Given the description of an element on the screen output the (x, y) to click on. 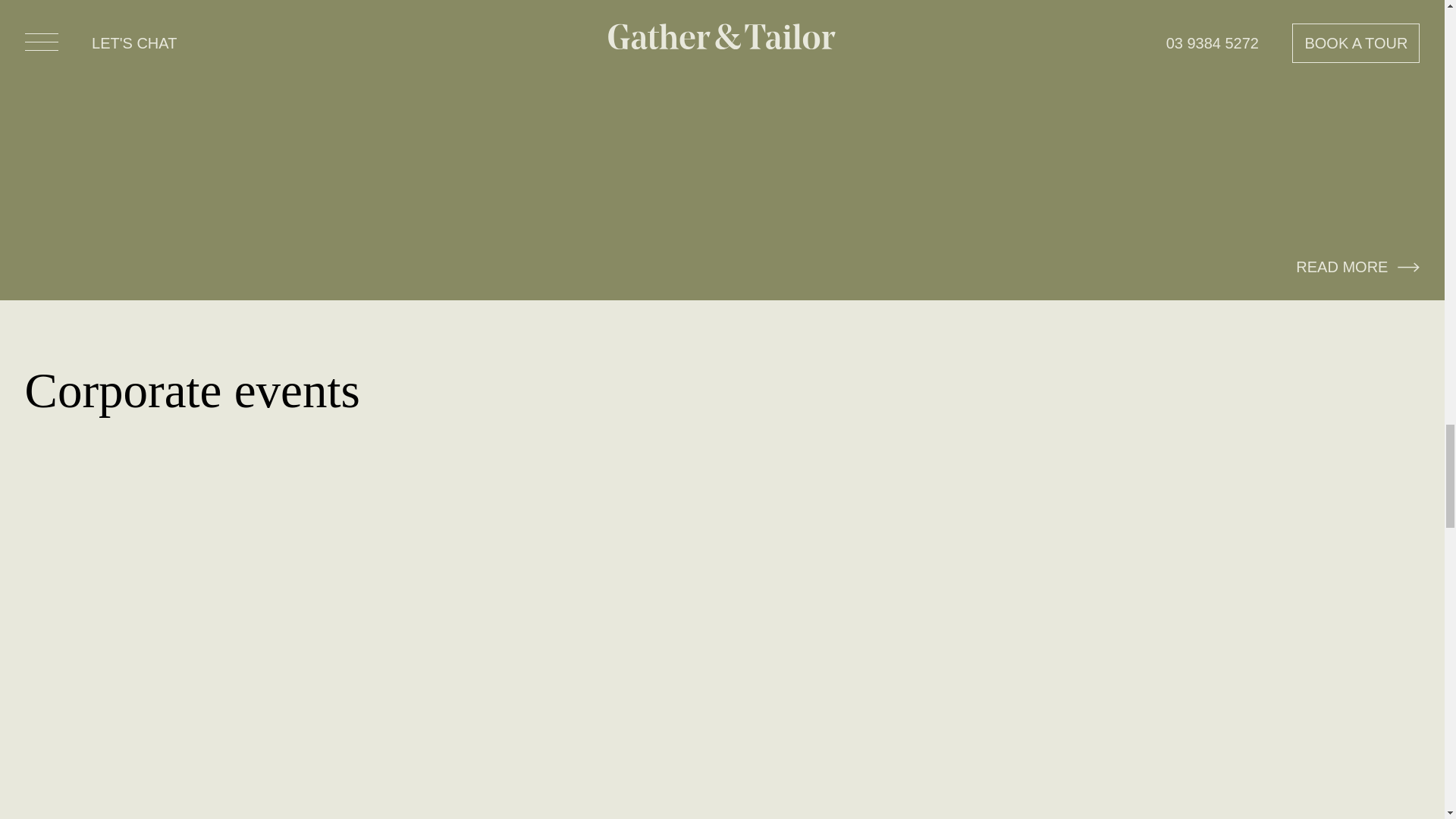
READ MORE (1357, 266)
